Given the description of an element on the screen output the (x, y) to click on. 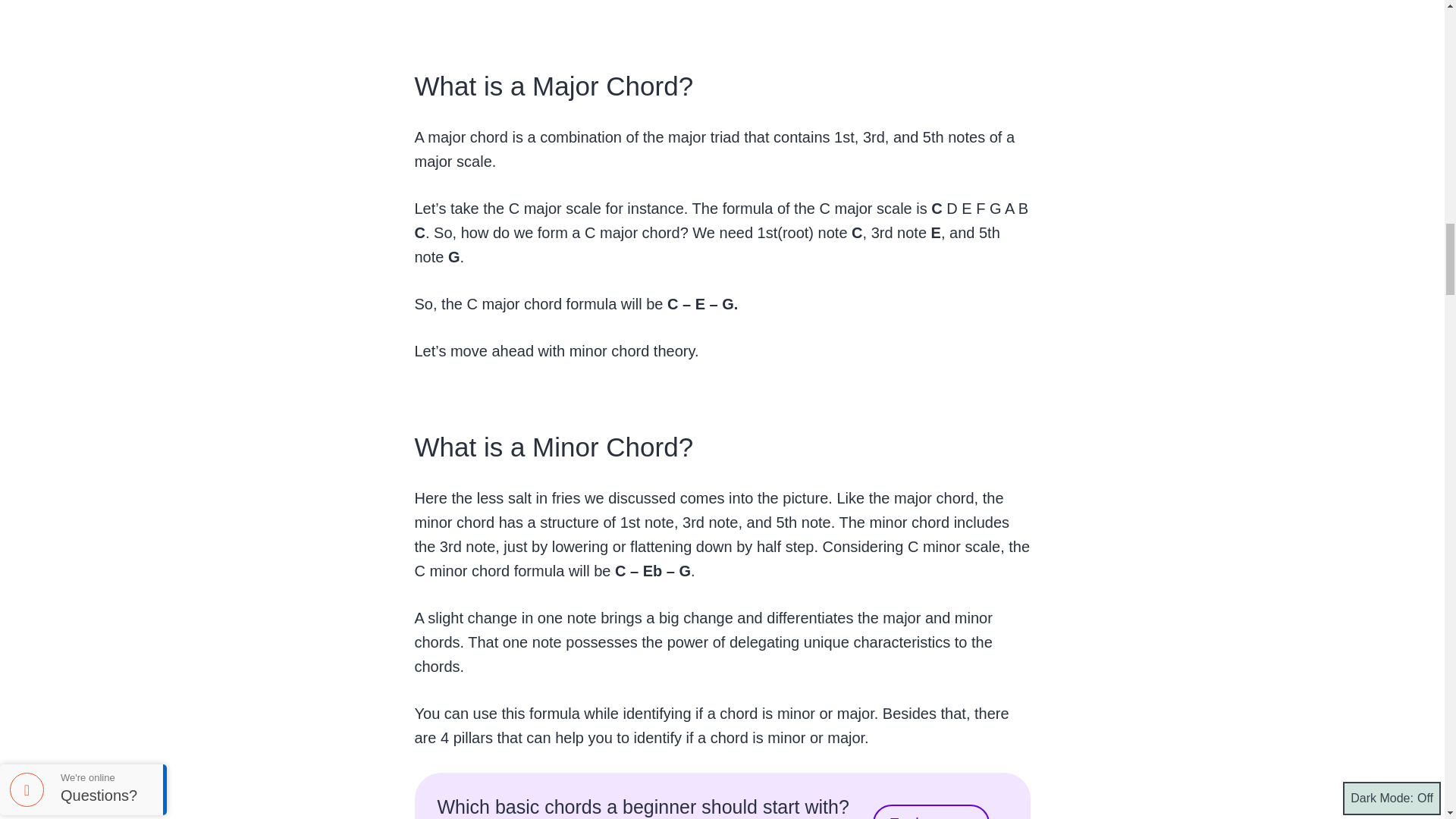
Explore now (931, 811)
